Given the description of an element on the screen output the (x, y) to click on. 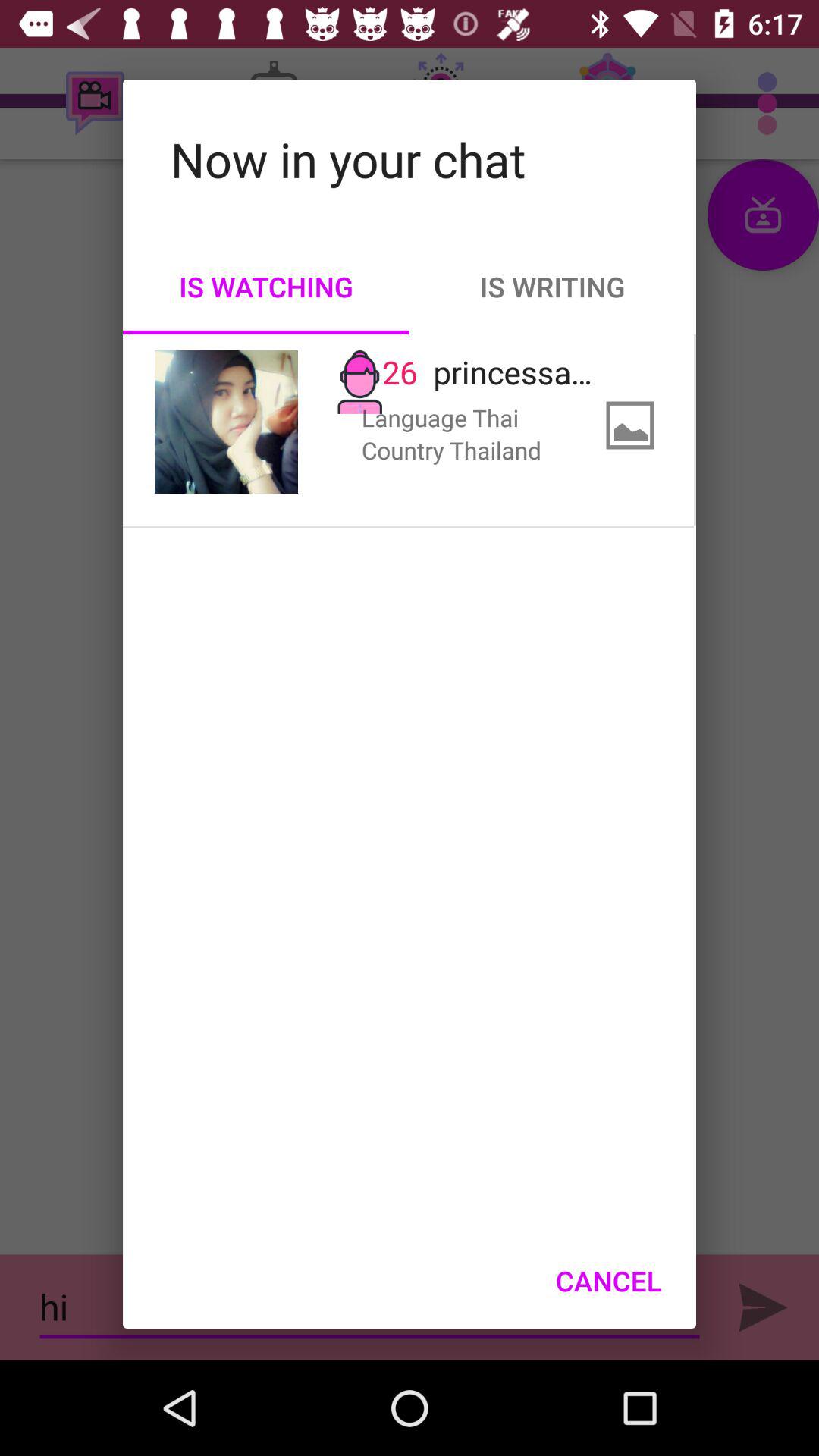
the profile picture (226, 421)
